Given the description of an element on the screen output the (x, y) to click on. 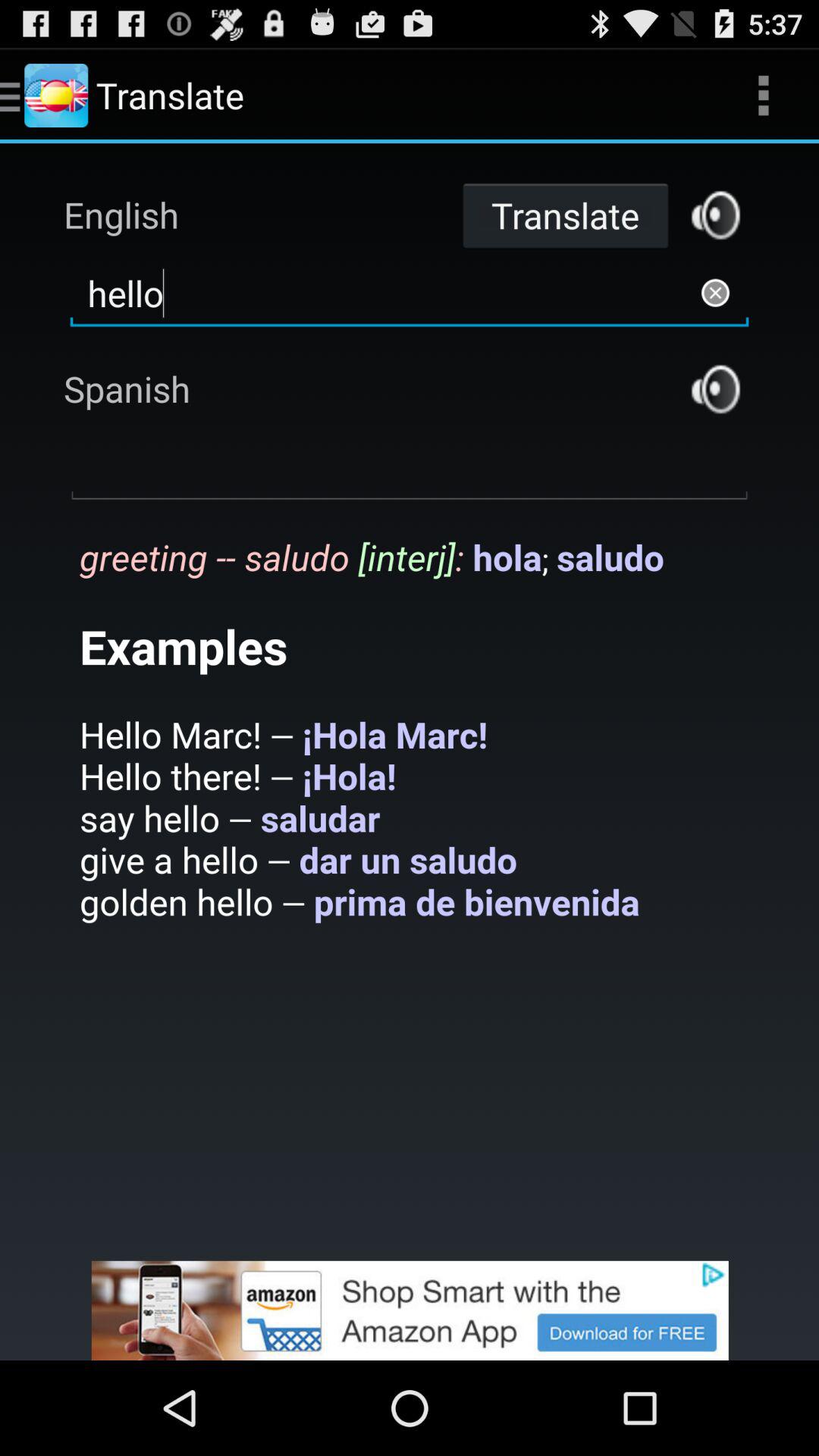
open text area (409, 467)
